Given the description of an element on the screen output the (x, y) to click on. 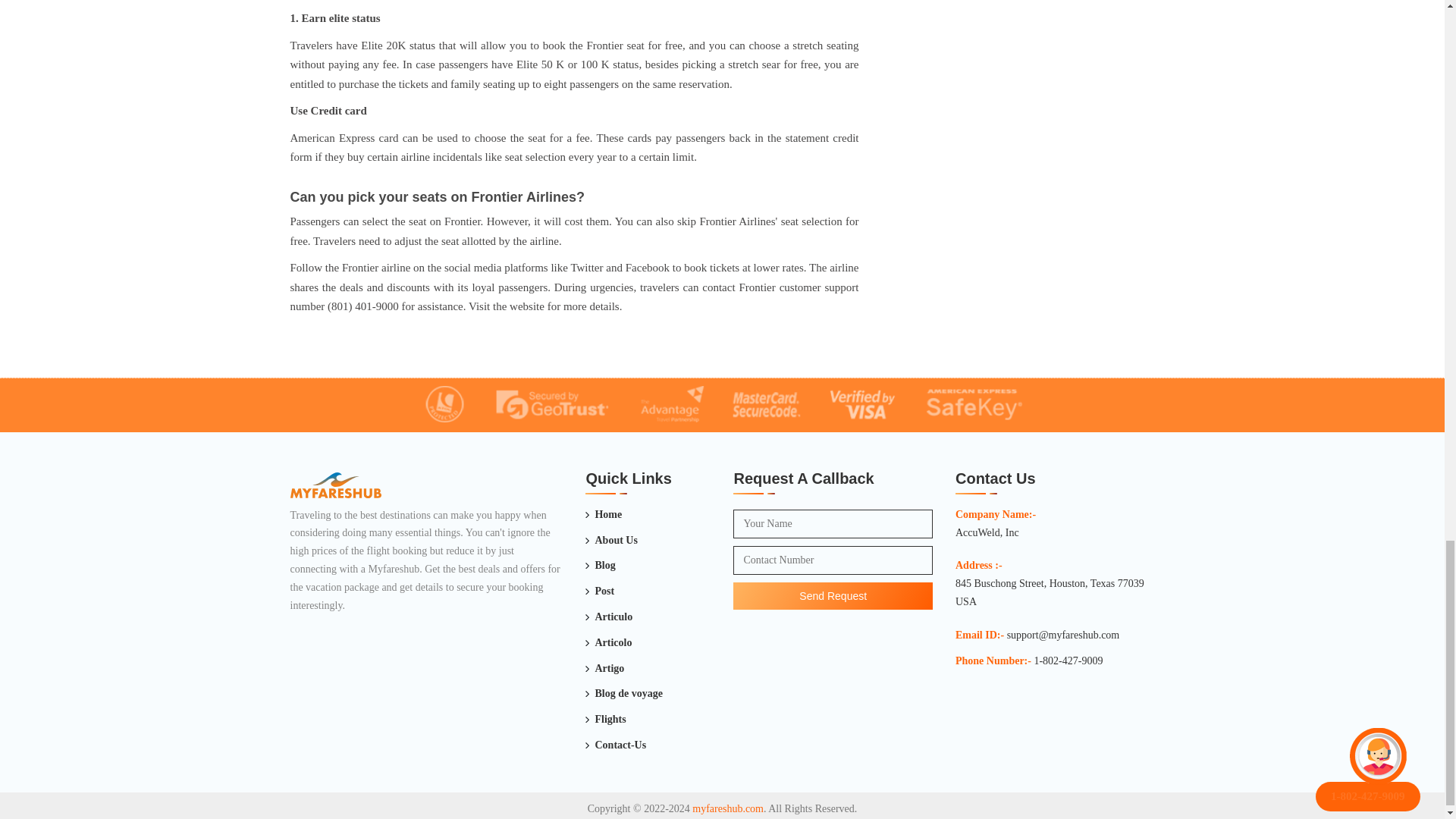
Artigo (604, 669)
Home (603, 515)
Articulo (608, 617)
1-802-427-9009 (1067, 660)
Articolo (608, 642)
About Us (611, 540)
Send Request (833, 595)
Blog (599, 565)
Flights (605, 719)
Blog de voyage (623, 693)
